Given the description of an element on the screen output the (x, y) to click on. 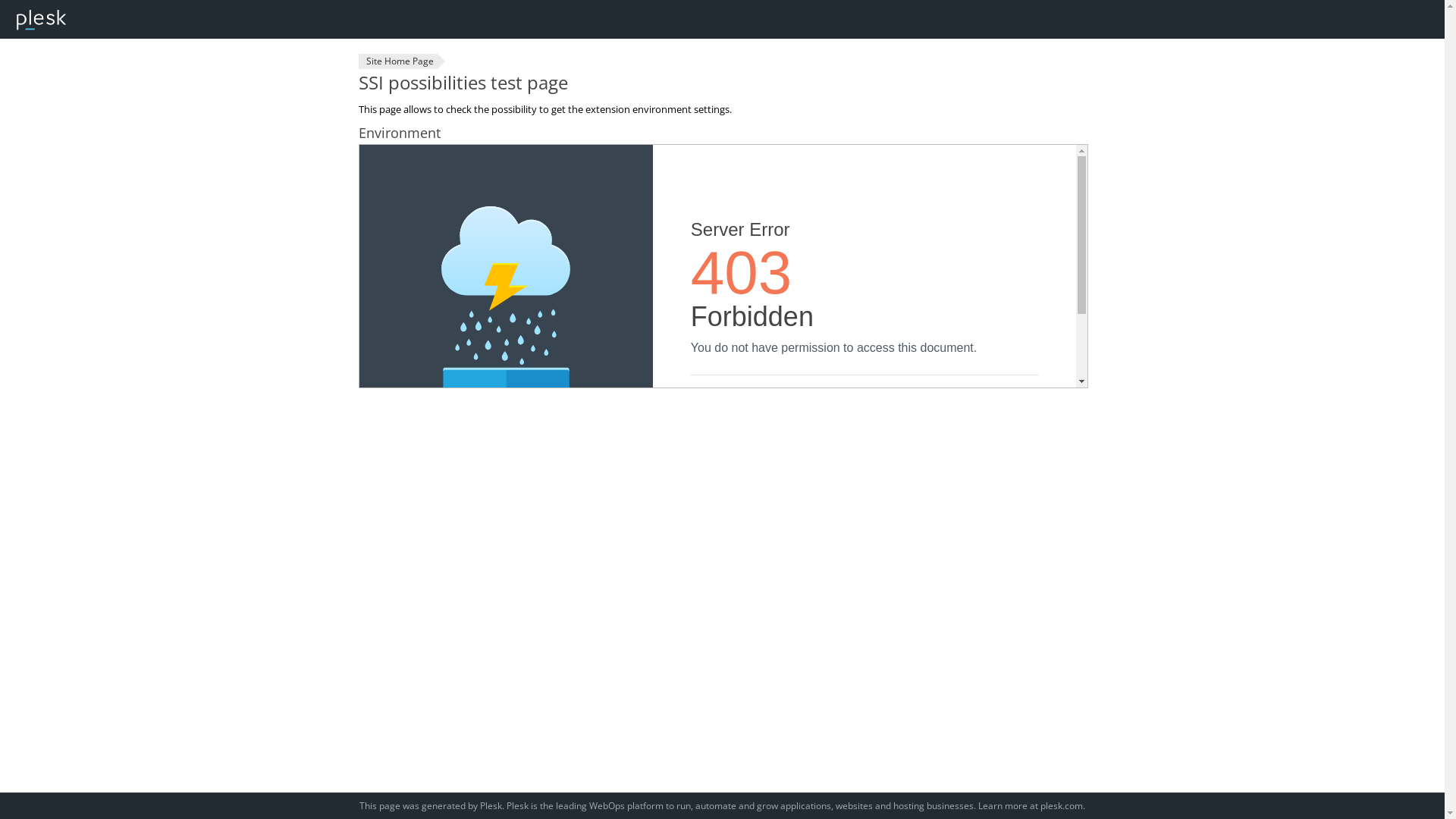
plesk.com Element type: text (1061, 805)
Site Home Page Element type: text (396, 61)
